Given the description of an element on the screen output the (x, y) to click on. 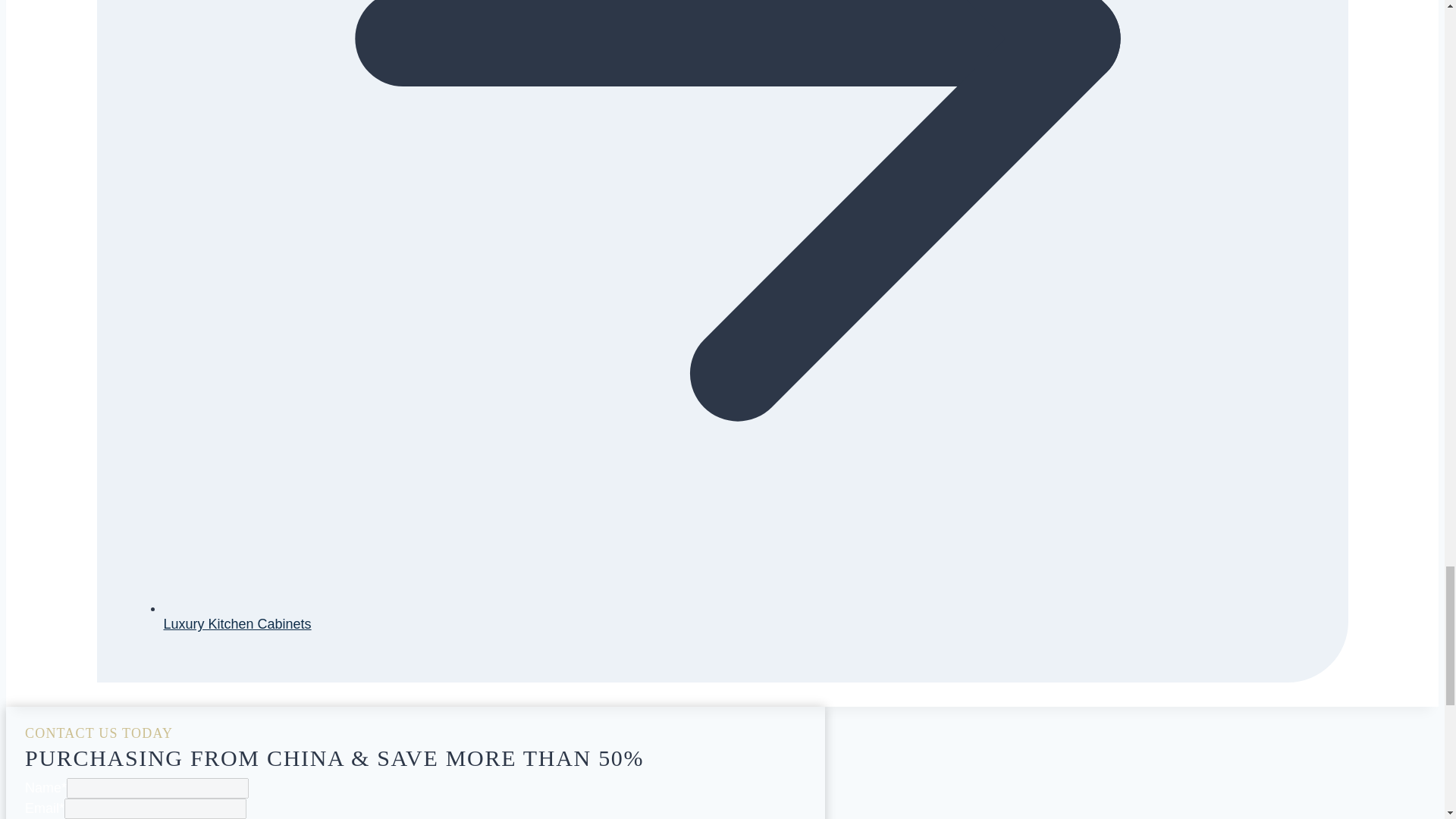
Luxury Kitchen Cabinets (237, 623)
